Given the description of an element on the screen output the (x, y) to click on. 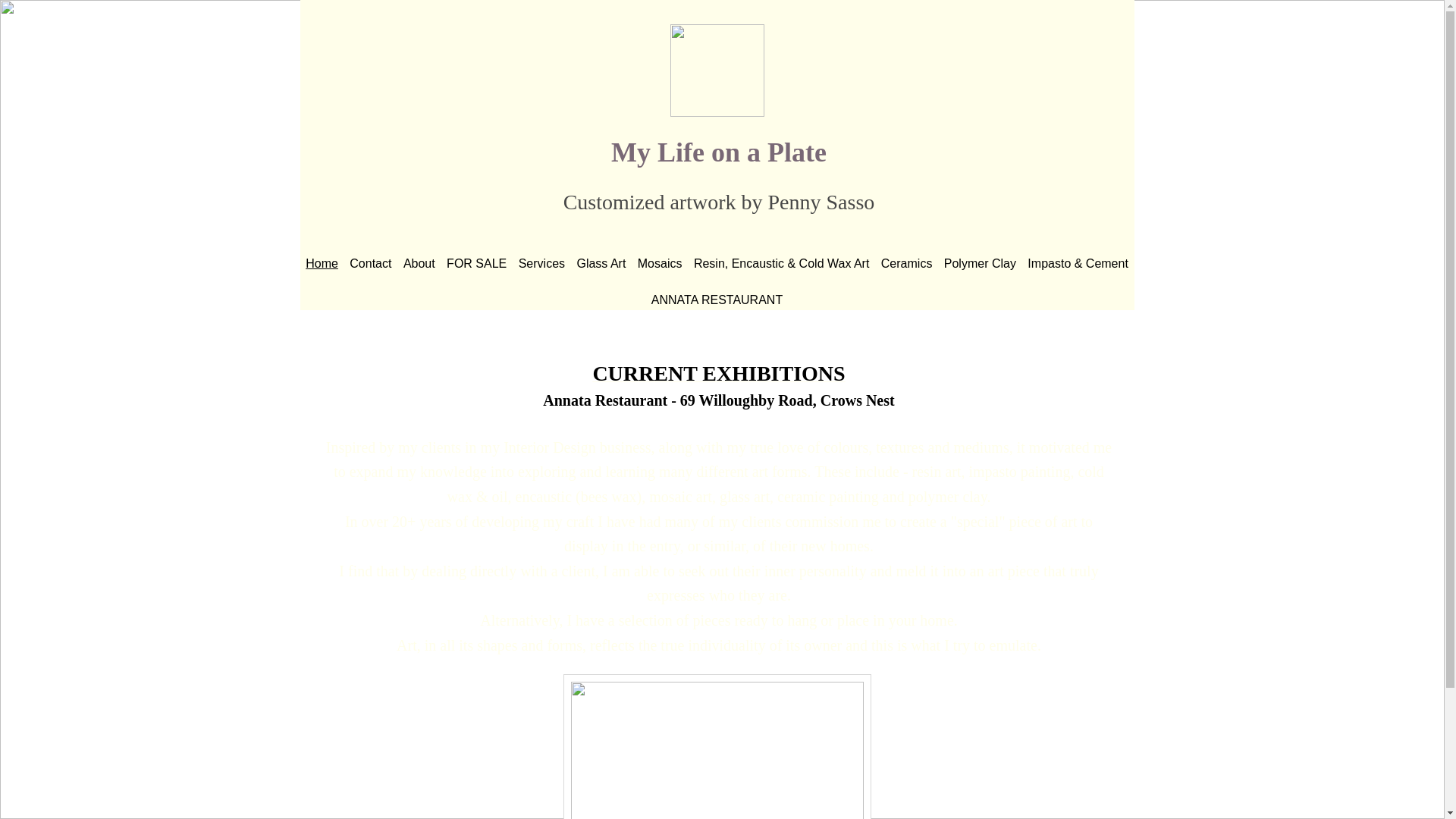
Home Element type: text (322, 263)
Resin, Encaustic & Cold Wax Art Element type: text (781, 263)
Glass Art Element type: text (601, 263)
About Element type: text (418, 263)
Impasto & Cement Element type: text (1078, 263)
FOR SALE Element type: text (476, 263)
Services Element type: text (541, 263)
ANNATA RESTAURANT Element type: text (717, 300)
Polymer Clay Element type: text (980, 263)
Ceramics Element type: text (906, 263)
Contact Element type: text (371, 263)
Mosaics Element type: text (659, 263)
